Given the description of an element on the screen output the (x, y) to click on. 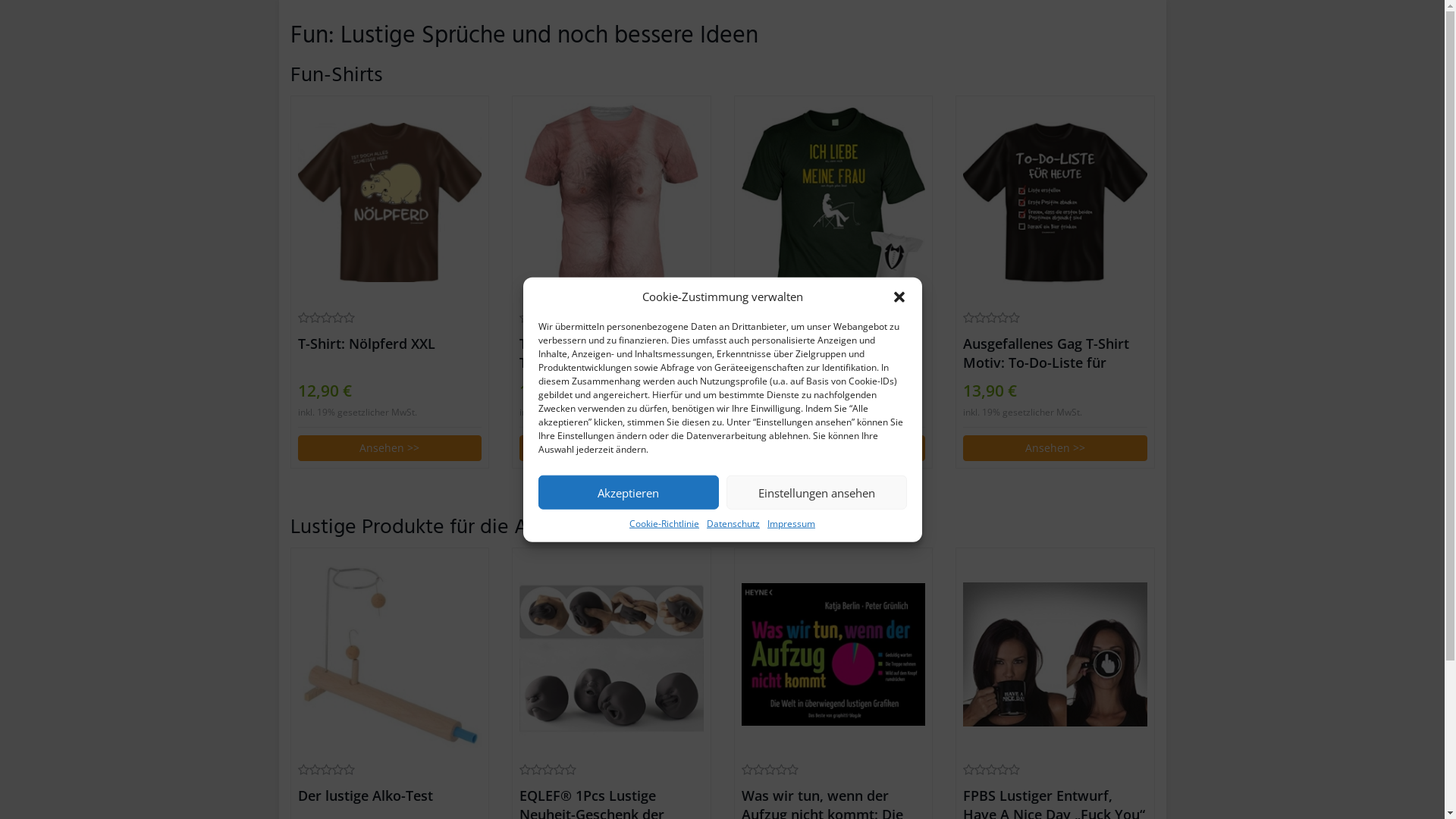
Einstellungen ansehen Element type: text (816, 492)
Datenschutz Element type: text (732, 523)
Ansehen >> Element type: text (833, 448)
Cookie-Richtlinie Element type: text (664, 523)
Der lustige Alko-Test Element type: hover (389, 653)
Ansehen >> Element type: text (611, 448)
Ansehen >> Element type: text (389, 448)
Ansehen >> Element type: text (1055, 448)
Akzeptieren Element type: text (628, 492)
Impressum Element type: text (791, 523)
